Given the description of an element on the screen output the (x, y) to click on. 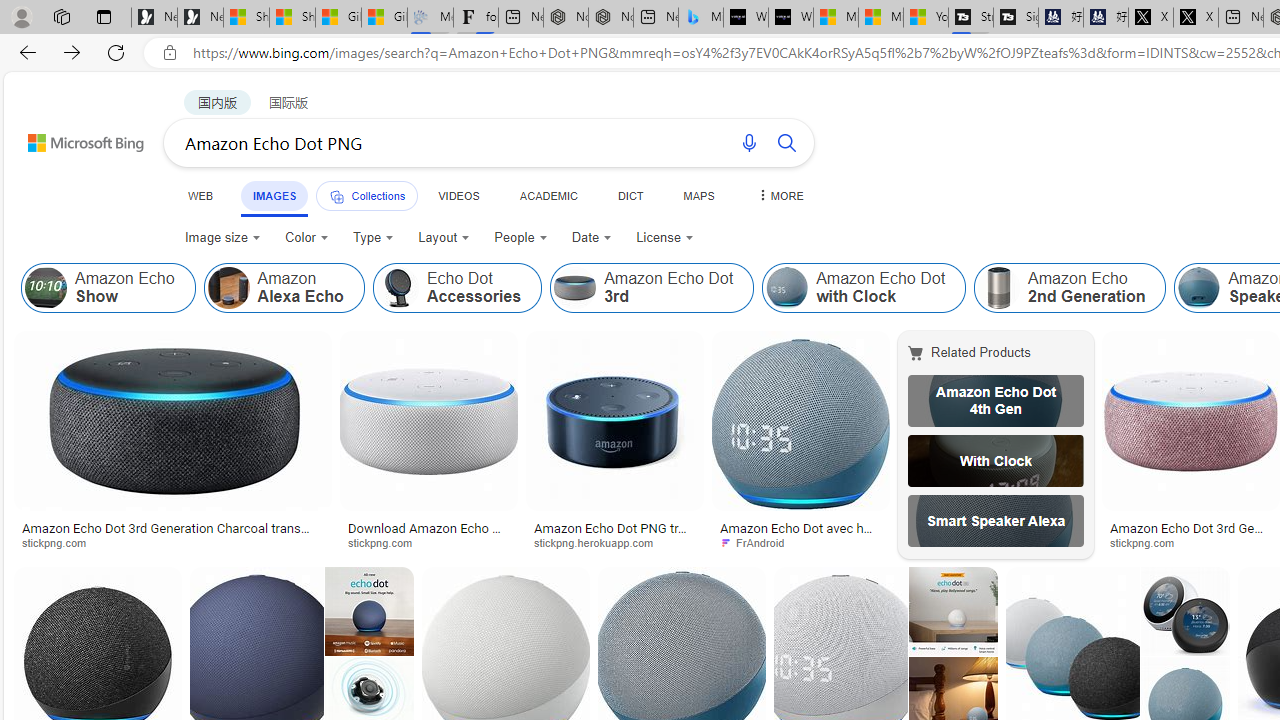
Color (305, 237)
Amazon Echo Dot 4th Gen (995, 400)
MAPS (698, 195)
Layout (443, 237)
